Given the description of an element on the screen output the (x, y) to click on. 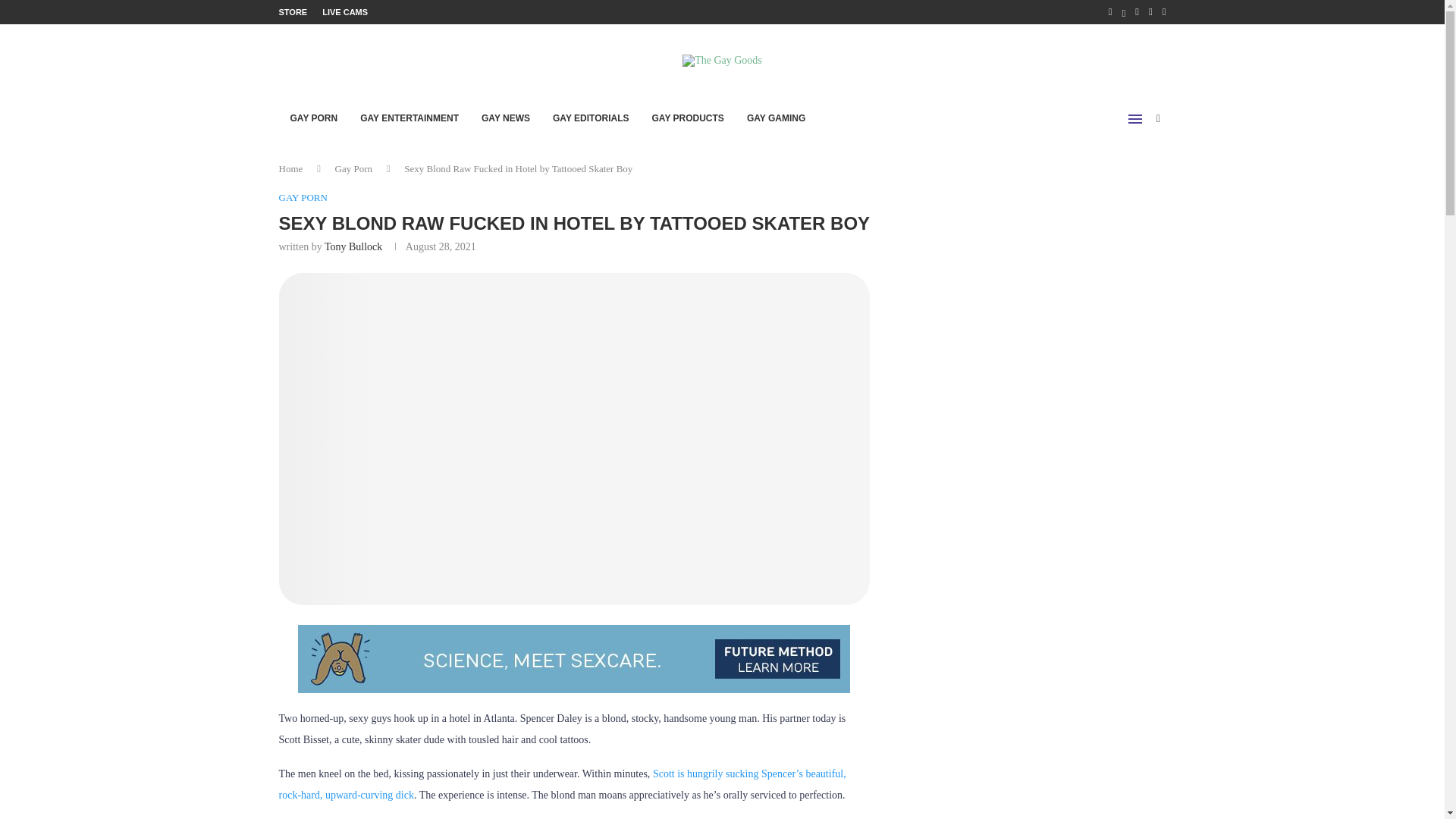
GAY EDITORIALS (590, 118)
GAY PORN (314, 118)
GAY PORN (303, 197)
GAY PRODUCTS (687, 118)
Tony Bullock (352, 246)
GAY GAMING (775, 118)
GAY NEWS (505, 118)
GAY ENTERTAINMENT (409, 118)
LIVE CAMS (344, 12)
Home (290, 168)
